Given the description of an element on the screen output the (x, y) to click on. 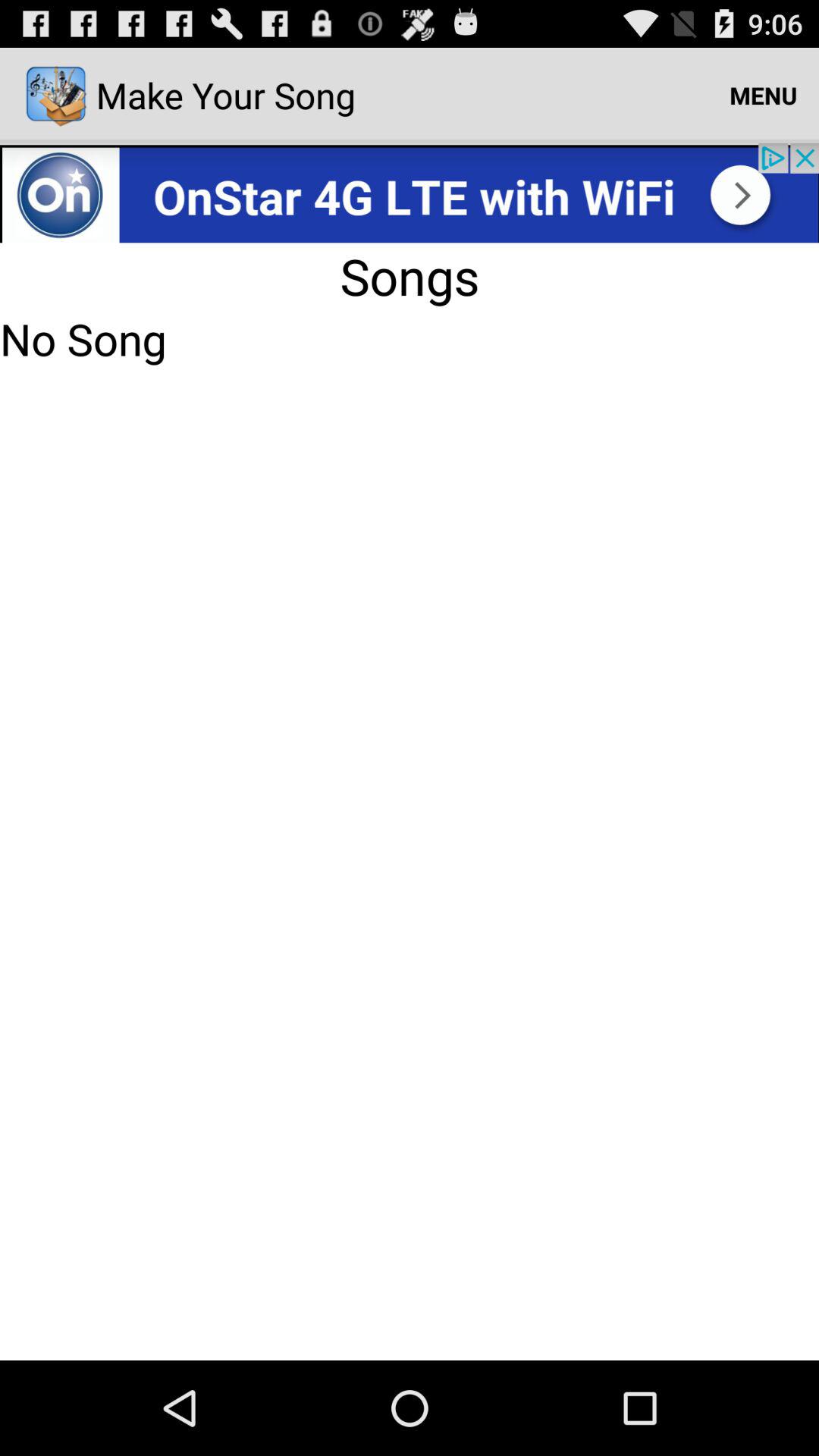
view advertisement (409, 192)
